Given the description of an element on the screen output the (x, y) to click on. 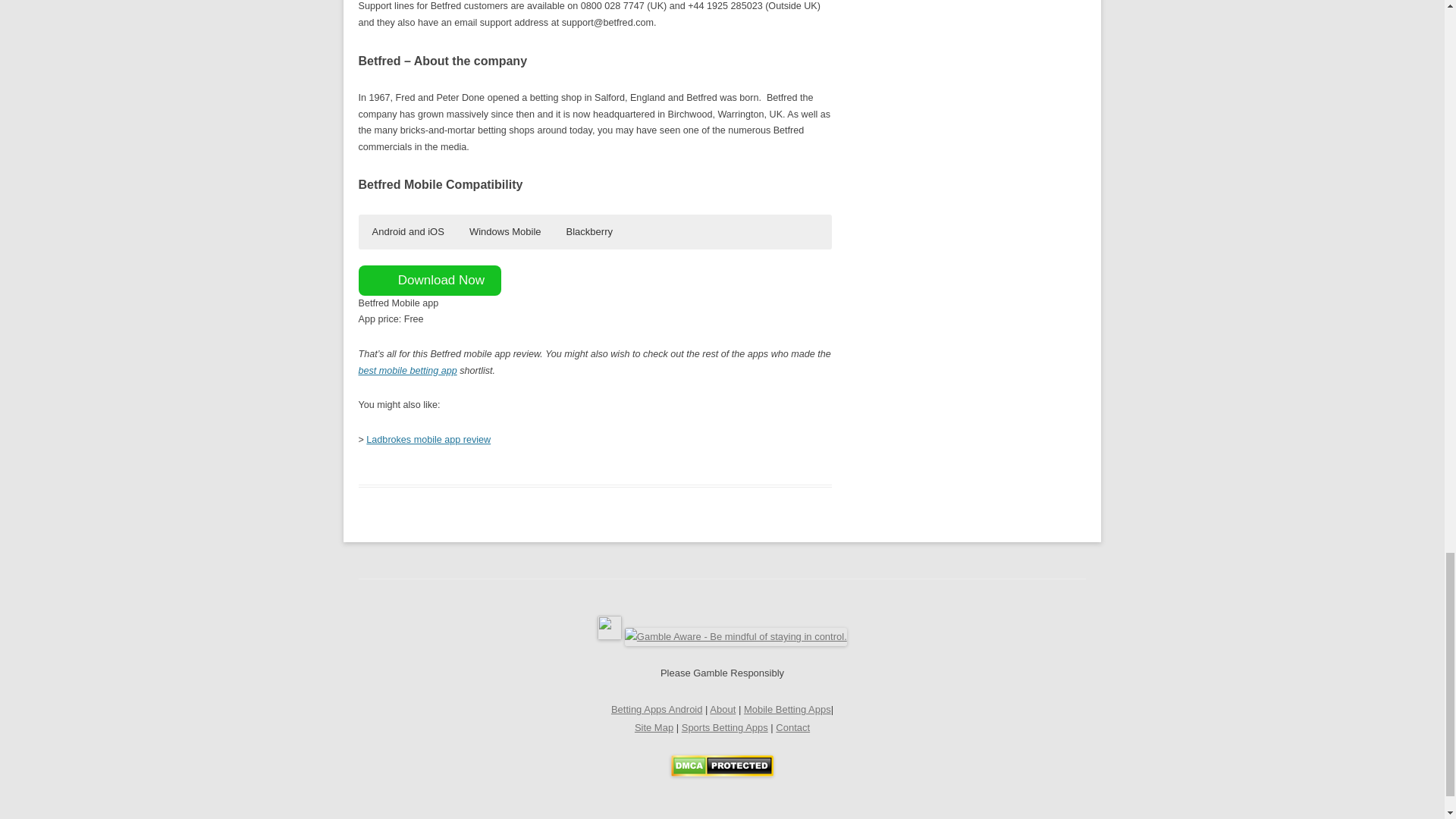
Sports Betting Apps (724, 727)
Site Map (653, 727)
Contact (792, 727)
Betting Apps Android (657, 708)
best mobile betting app (407, 370)
DMCA.com Protection Status (722, 772)
Ladbrokes mobile app review (428, 439)
About (722, 708)
Mobile Betting Apps (787, 708)
Download Now (429, 280)
